Given the description of an element on the screen output the (x, y) to click on. 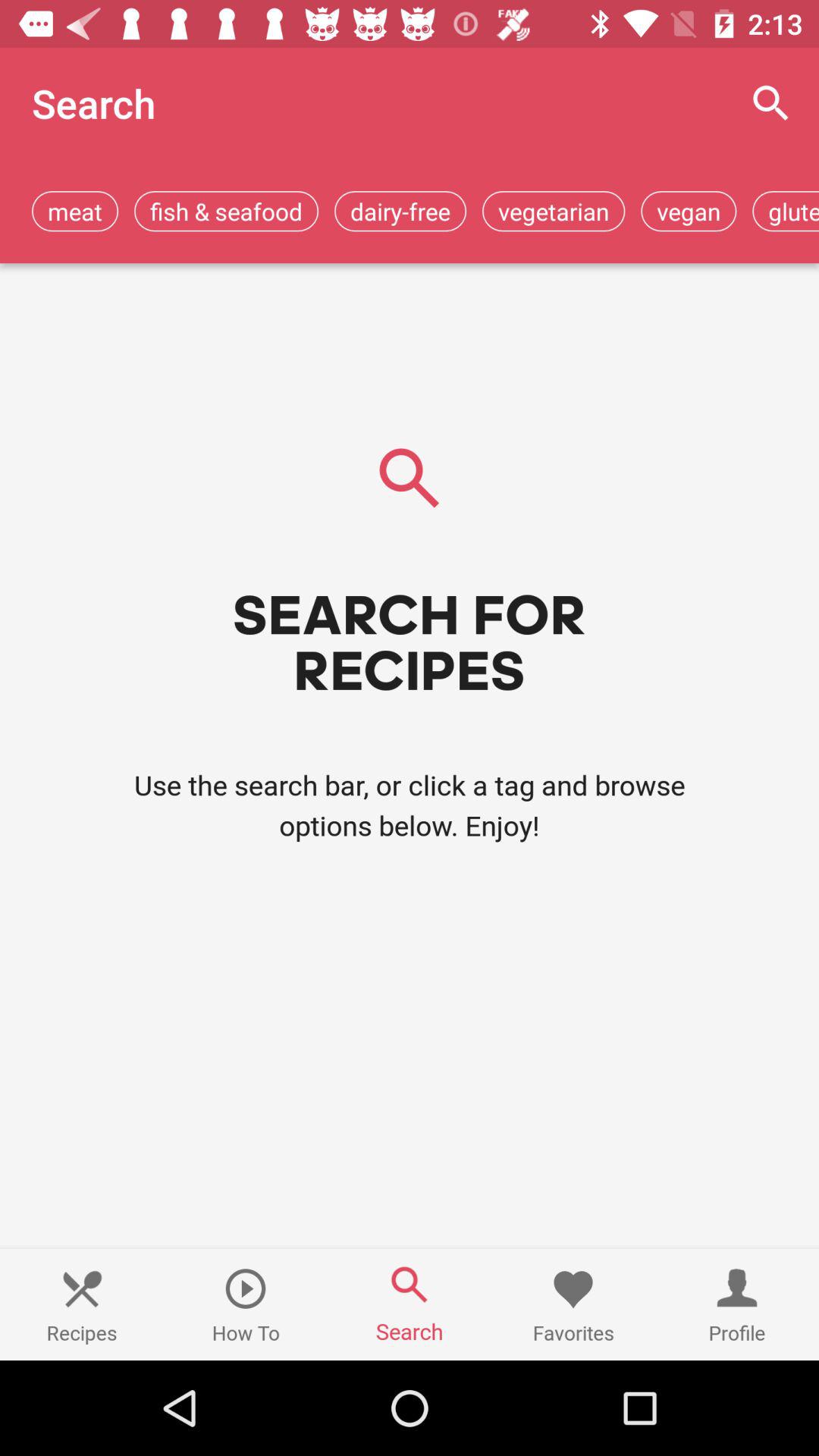
turn off the icon to the left of the vegetarian app (400, 211)
